Given the description of an element on the screen output the (x, y) to click on. 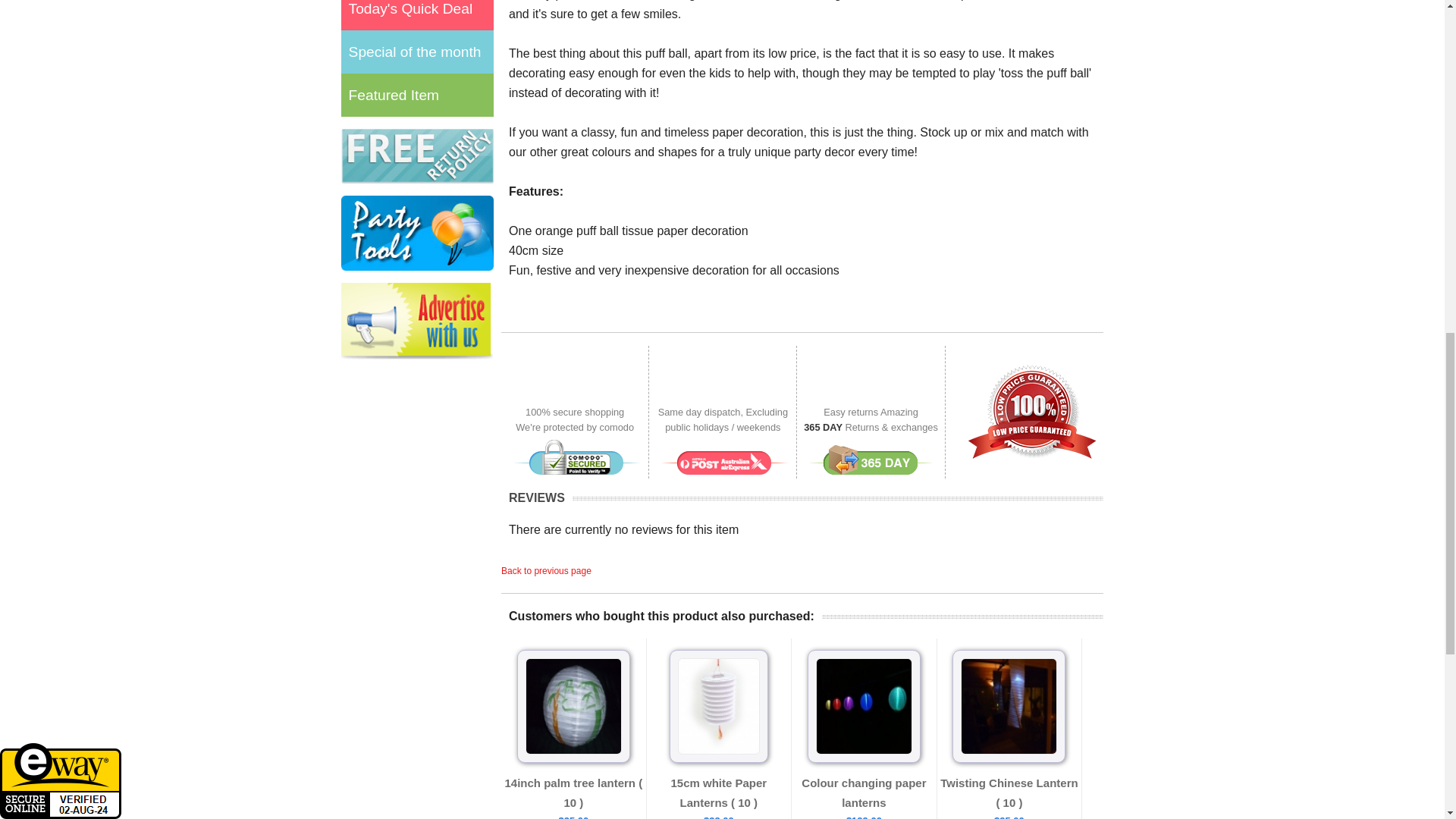
Colour changing paper lanterns (864, 792)
Back to previous page (545, 570)
